Given the description of an element on the screen output the (x, y) to click on. 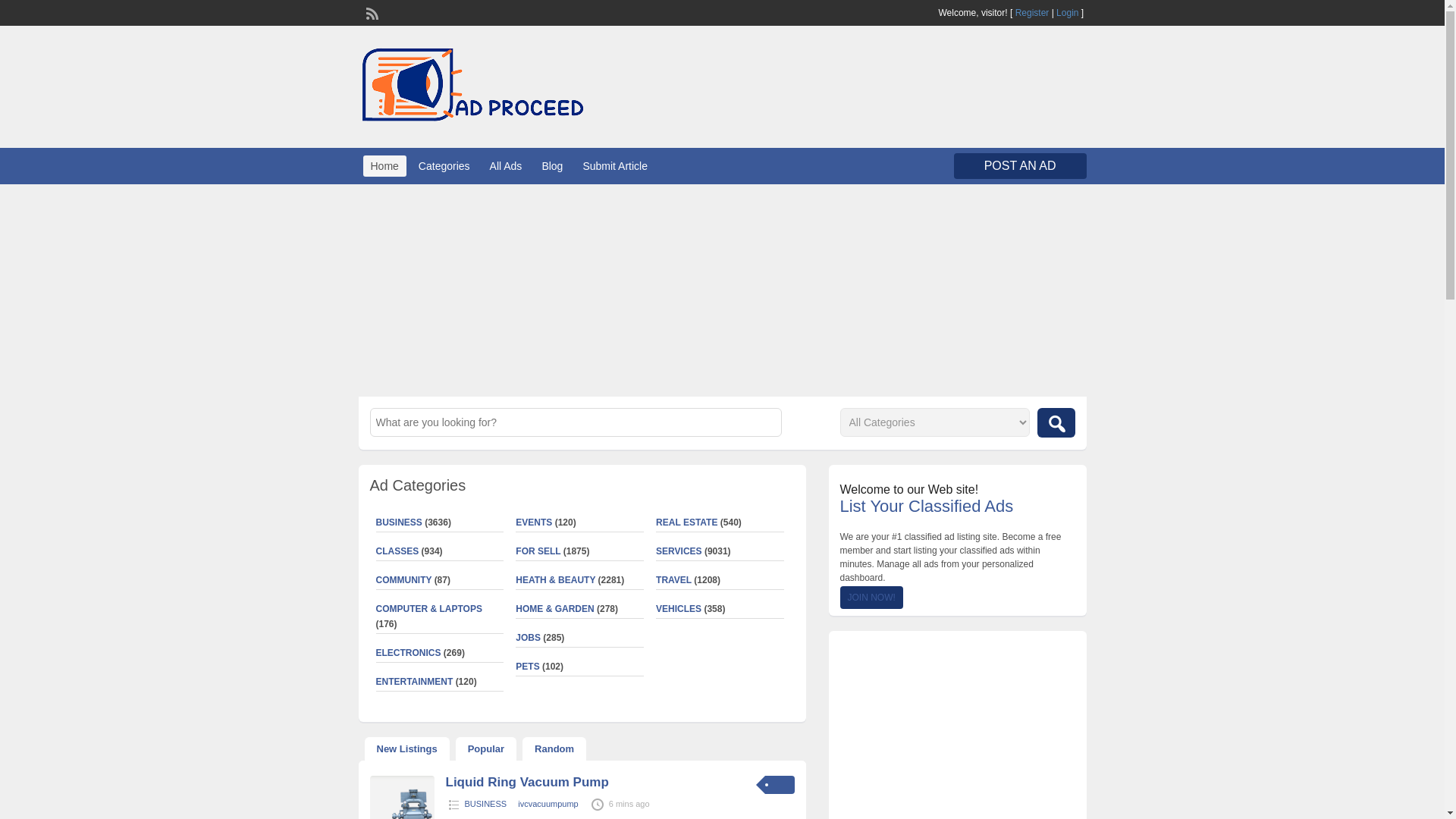
ELECTRONICS (408, 652)
RSS Feed (369, 11)
BUSINESS (398, 521)
ENTERTAINMENT (413, 681)
Categories (443, 165)
Login (1067, 12)
Blog (552, 165)
Submit Article (615, 165)
CLASSES (397, 551)
PETS (526, 665)
REAL ESTATE (686, 521)
All Ads (505, 165)
COMMUNITY (403, 579)
POST AN AD (1019, 166)
search (1055, 422)
